Given the description of an element on the screen output the (x, y) to click on. 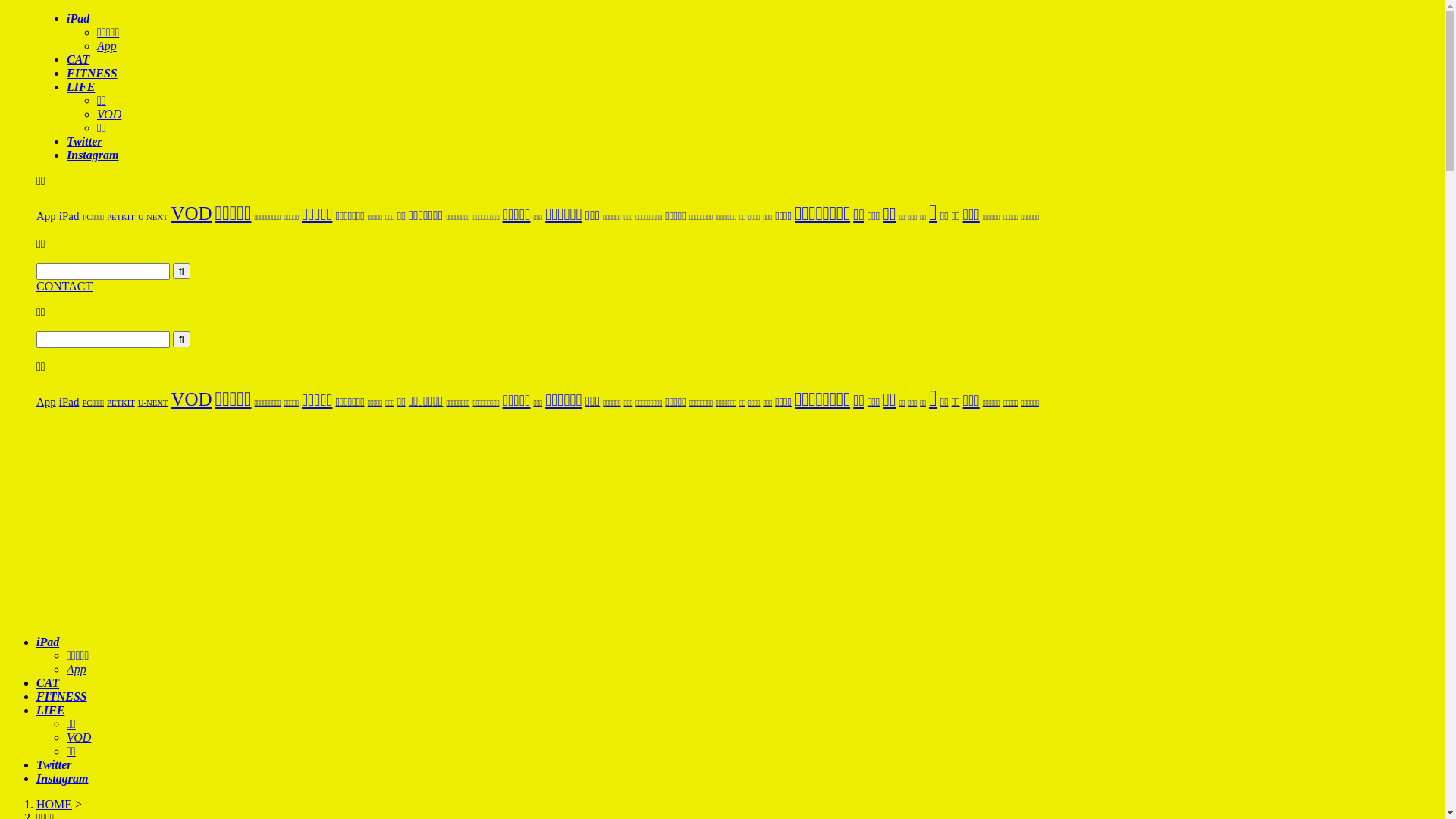
FITNESS Element type: text (61, 696)
VOD Element type: text (190, 399)
Twitter Element type: text (84, 140)
Twitter Element type: text (54, 764)
CONTACT Element type: text (737, 286)
VOD Element type: text (78, 737)
FITNESS Element type: text (91, 72)
iPad Element type: text (69, 401)
U-NEXT Element type: text (153, 402)
iPad Element type: text (47, 641)
CAT Element type: text (47, 682)
PETKIT Element type: text (120, 402)
App Element type: text (46, 216)
Instagram Element type: text (92, 154)
App Element type: text (46, 401)
LIFE Element type: text (80, 86)
LIFE Element type: text (50, 709)
HOME Element type: text (54, 803)
CAT Element type: text (77, 59)
iPad Element type: text (77, 18)
U-NEXT Element type: text (153, 217)
App Element type: text (76, 668)
Instagram Element type: text (61, 777)
iPad Element type: text (69, 216)
VOD Element type: text (109, 113)
PETKIT Element type: text (120, 217)
App Element type: text (106, 45)
VOD Element type: text (190, 213)
